Given the description of an element on the screen output the (x, y) to click on. 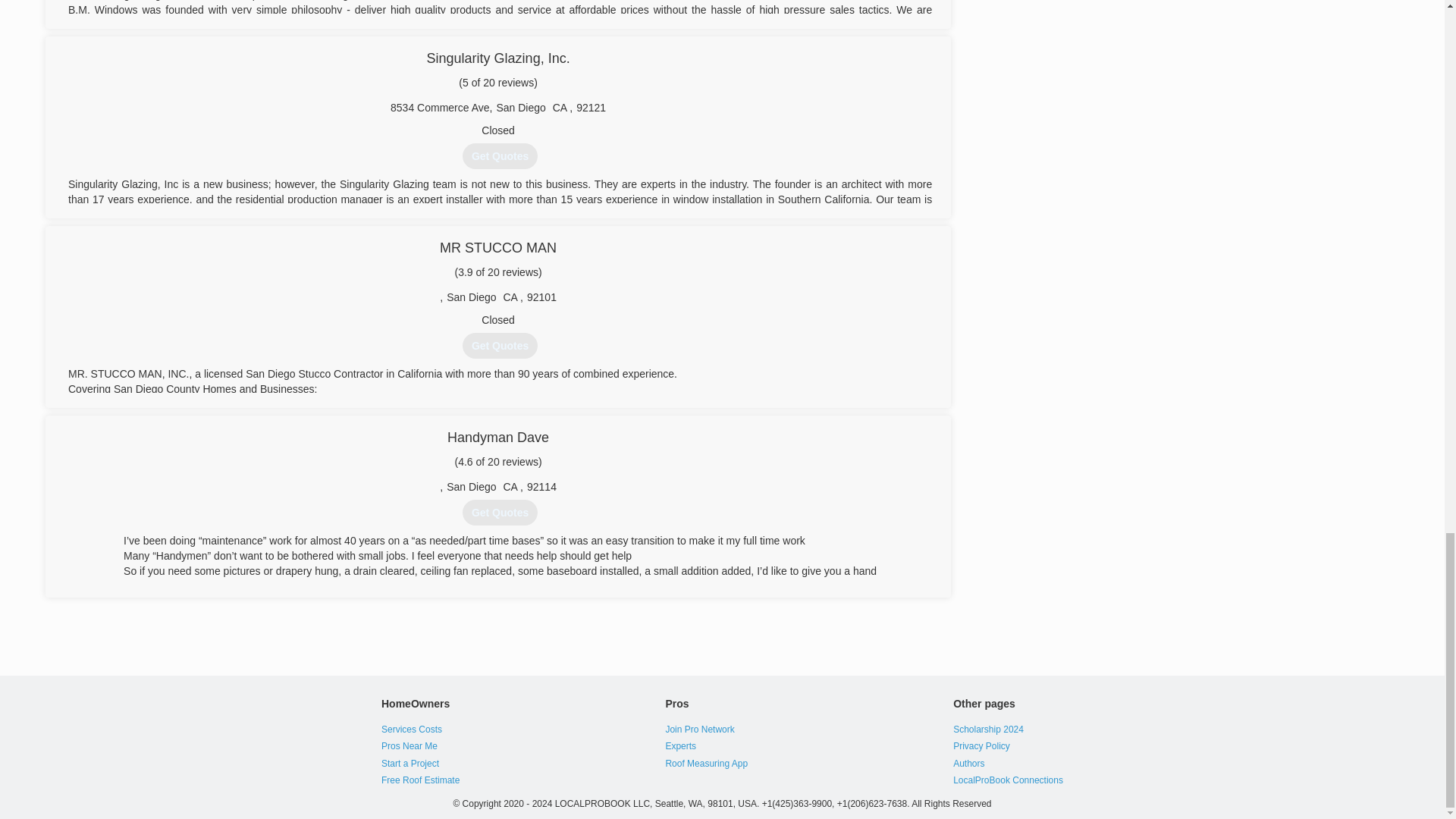
Get Quotes (500, 512)
Get Quotes (500, 155)
Get Quotes (500, 345)
